Given the description of an element on the screen output the (x, y) to click on. 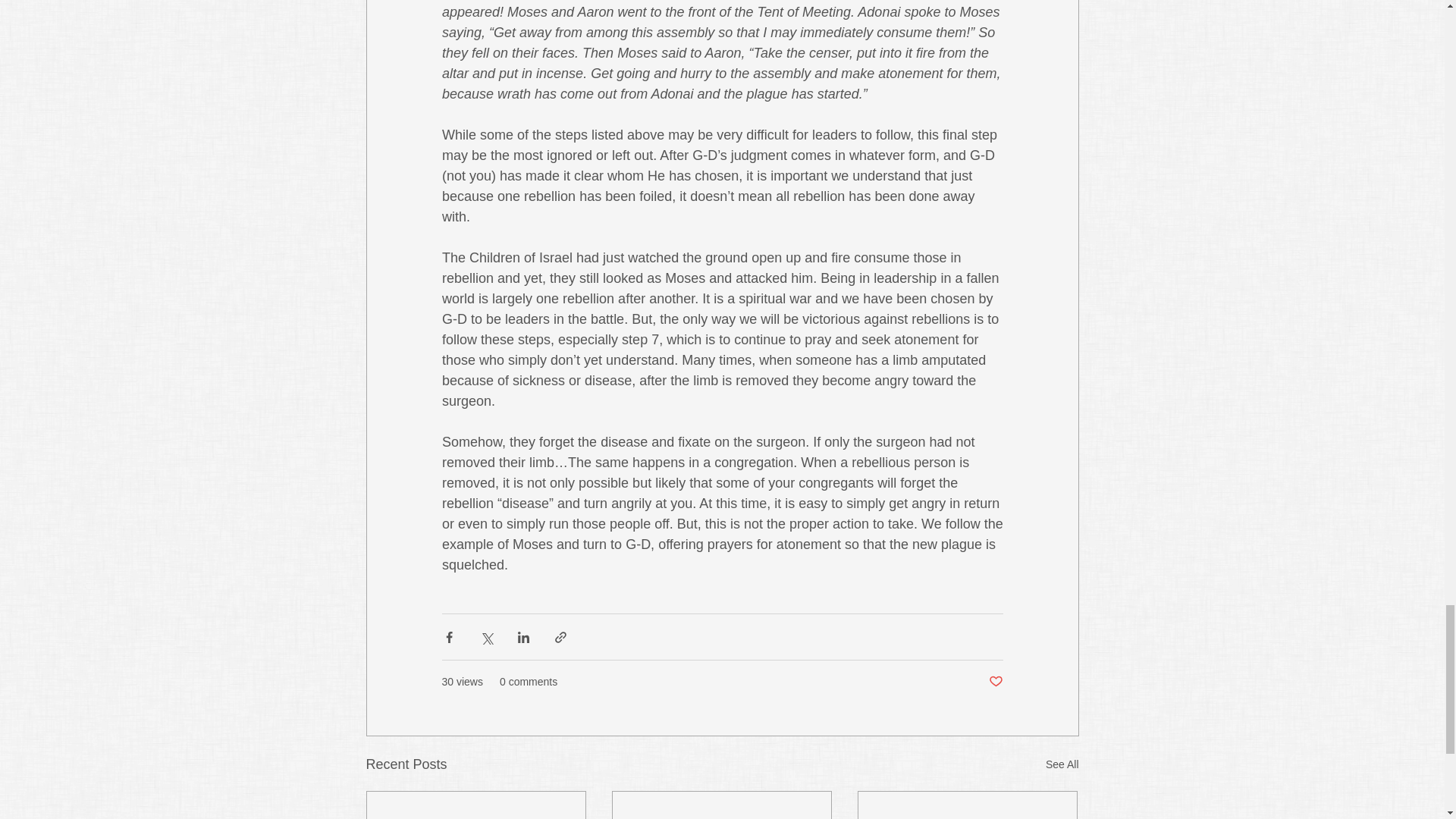
Post not marked as liked (995, 682)
See All (1061, 764)
